Given the description of an element on the screen output the (x, y) to click on. 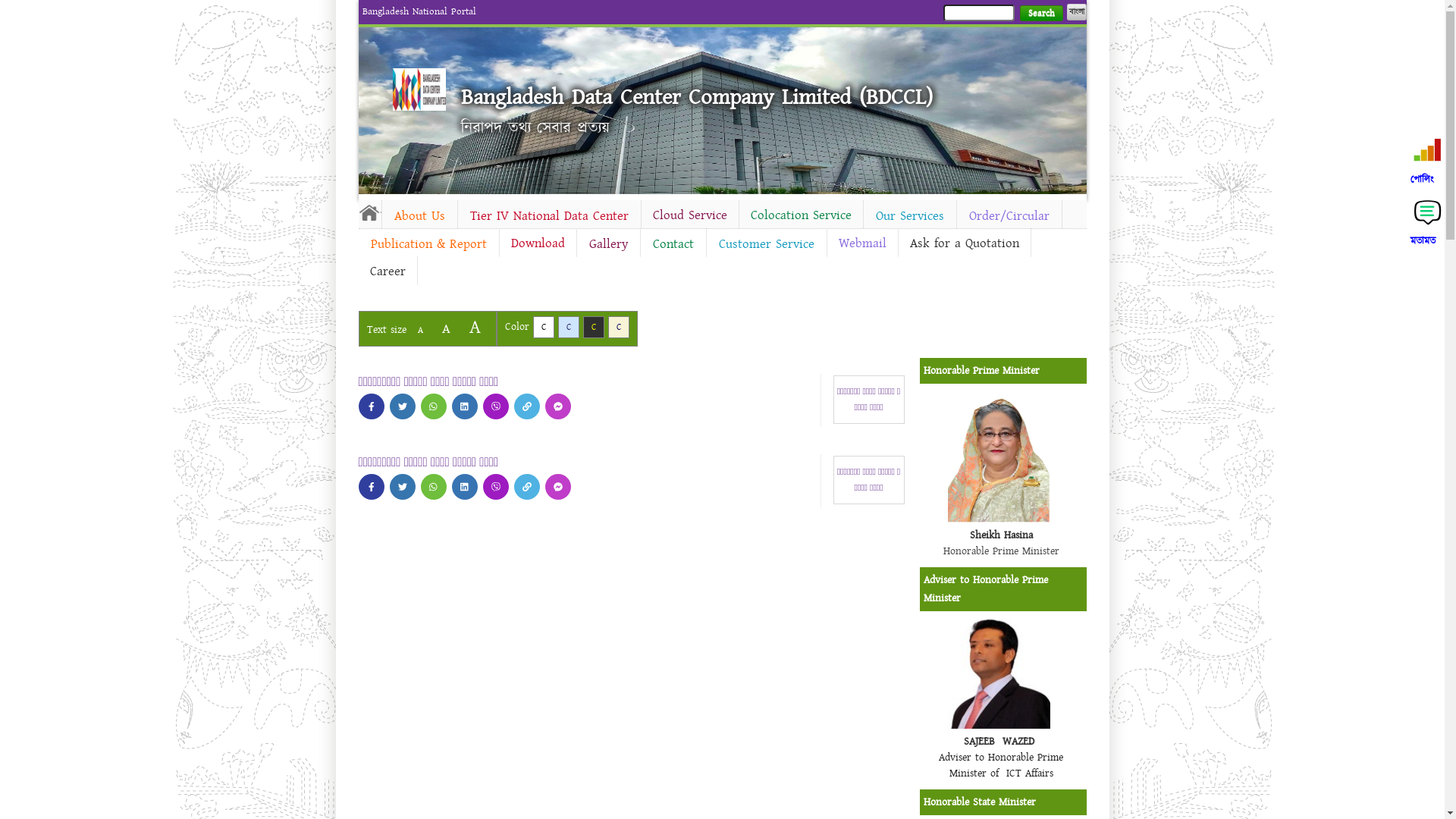
C Element type: text (618, 327)
Publication & Report Element type: text (427, 244)
Webmail Element type: text (861, 243)
Career Element type: text (386, 271)
Cloud Service Element type: text (689, 215)
Bangladesh Data Center Company Limited (BDCCL) Element type: text (696, 96)
About Us Element type: text (419, 216)
Home Element type: hover (418, 89)
C Element type: text (592, 327)
A Element type: text (445, 328)
Home Element type: hover (368, 211)
Search Element type: text (1040, 13)
Contact Element type: text (672, 244)
Bangladesh National Portal Element type: text (419, 11)
Download Element type: text (536, 243)
A Element type: text (474, 327)
C Element type: text (568, 327)
Order/Circular Element type: text (1009, 216)
C Element type: text (542, 327)
A Element type: text (419, 330)
Customer Service Element type: text (766, 244)
Gallery Element type: text (607, 244)
Colocation Service Element type: text (800, 215)
Ask for a Quotation Element type: text (963, 243)
Tier IV National Data Center Element type: text (549, 216)
Our Services Element type: text (908, 216)
